Given the description of an element on the screen output the (x, y) to click on. 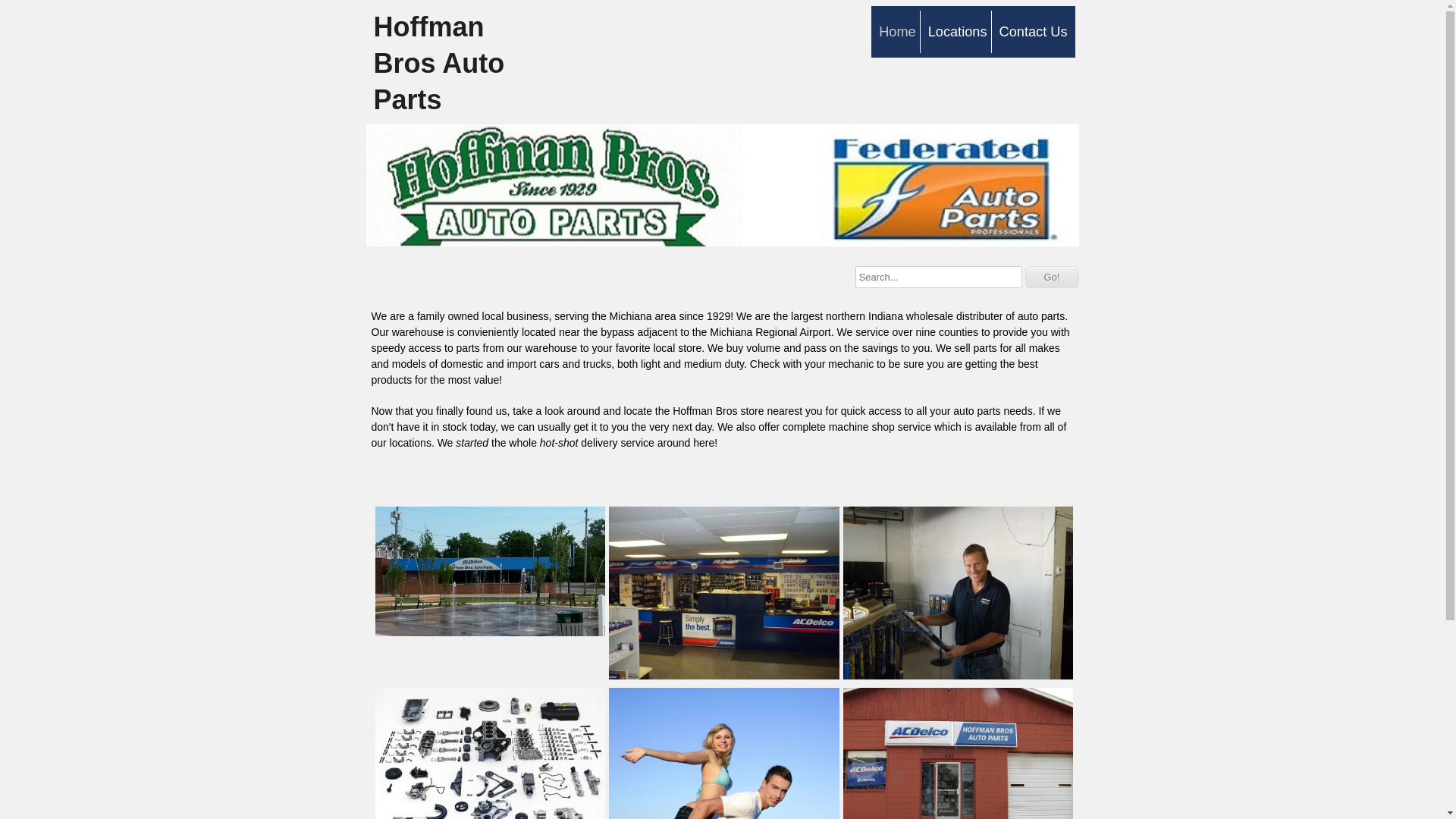
Go! (1051, 277)
Go! (1051, 277)
Home (896, 31)
Locations (957, 31)
Contact Us (1033, 31)
Super Counterman Mark K (958, 675)
Go! (1051, 277)
Home (896, 31)
Contact Us (1033, 31)
Hoffman Bros Auto Parts (456, 62)
Locations (957, 31)
